Given the description of an element on the screen output the (x, y) to click on. 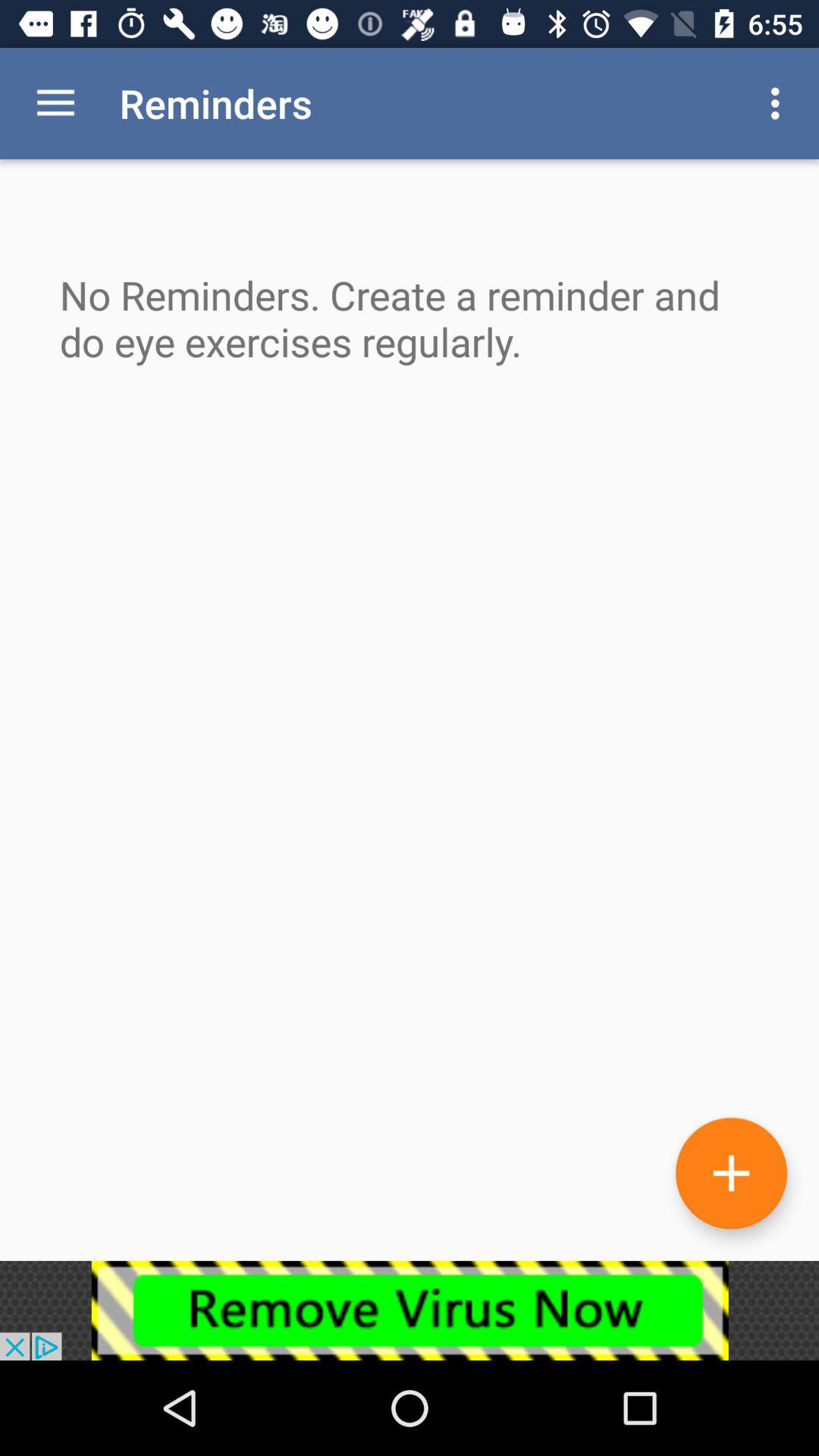
create new eminder (731, 1173)
